Given the description of an element on the screen output the (x, y) to click on. 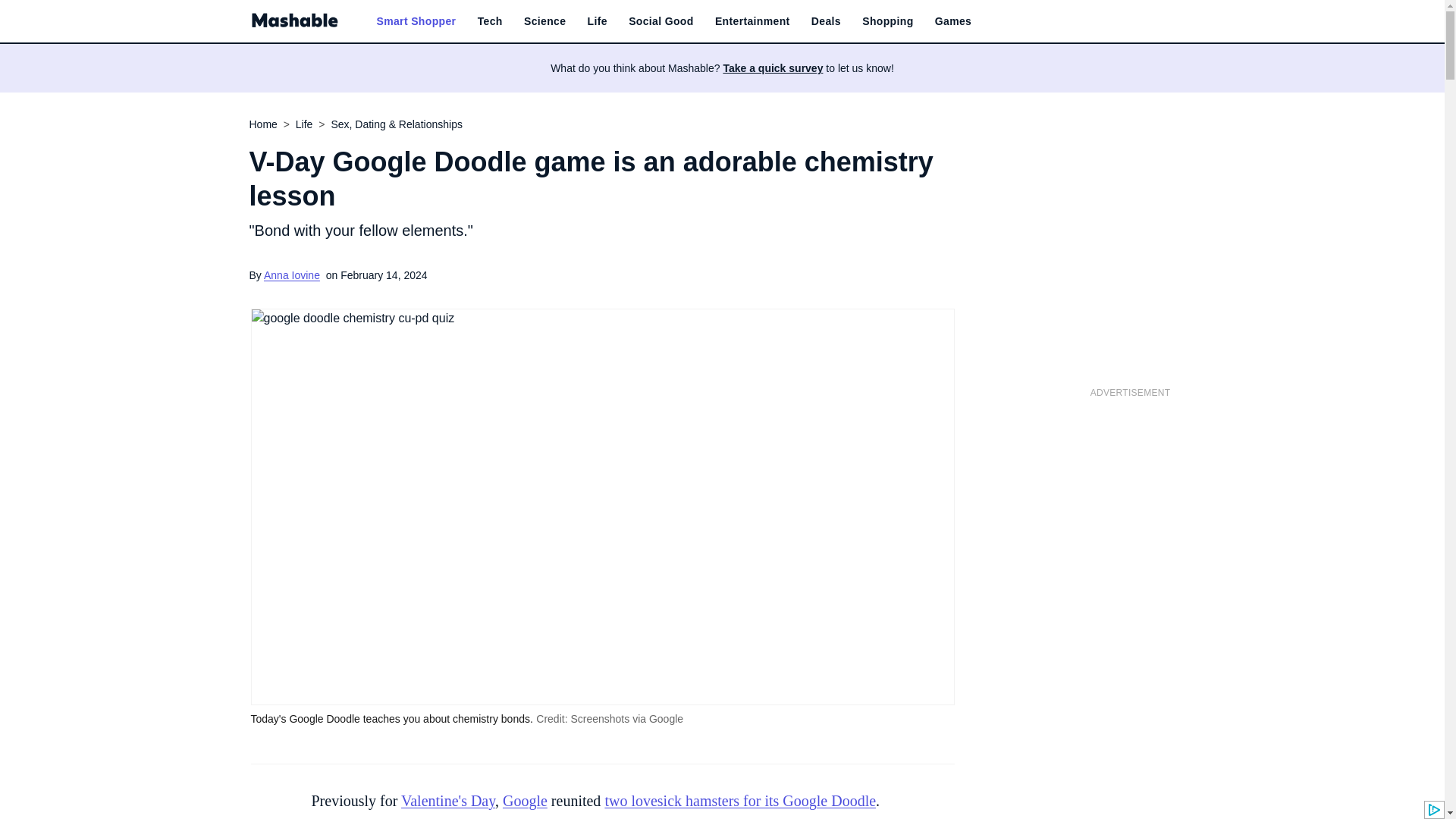
Games (952, 21)
Science (545, 21)
Smart Shopper (415, 21)
Tech (489, 21)
Entertainment (752, 21)
Shopping (886, 21)
Social Good (661, 21)
Deals (825, 21)
Life (597, 21)
